Given the description of an element on the screen output the (x, y) to click on. 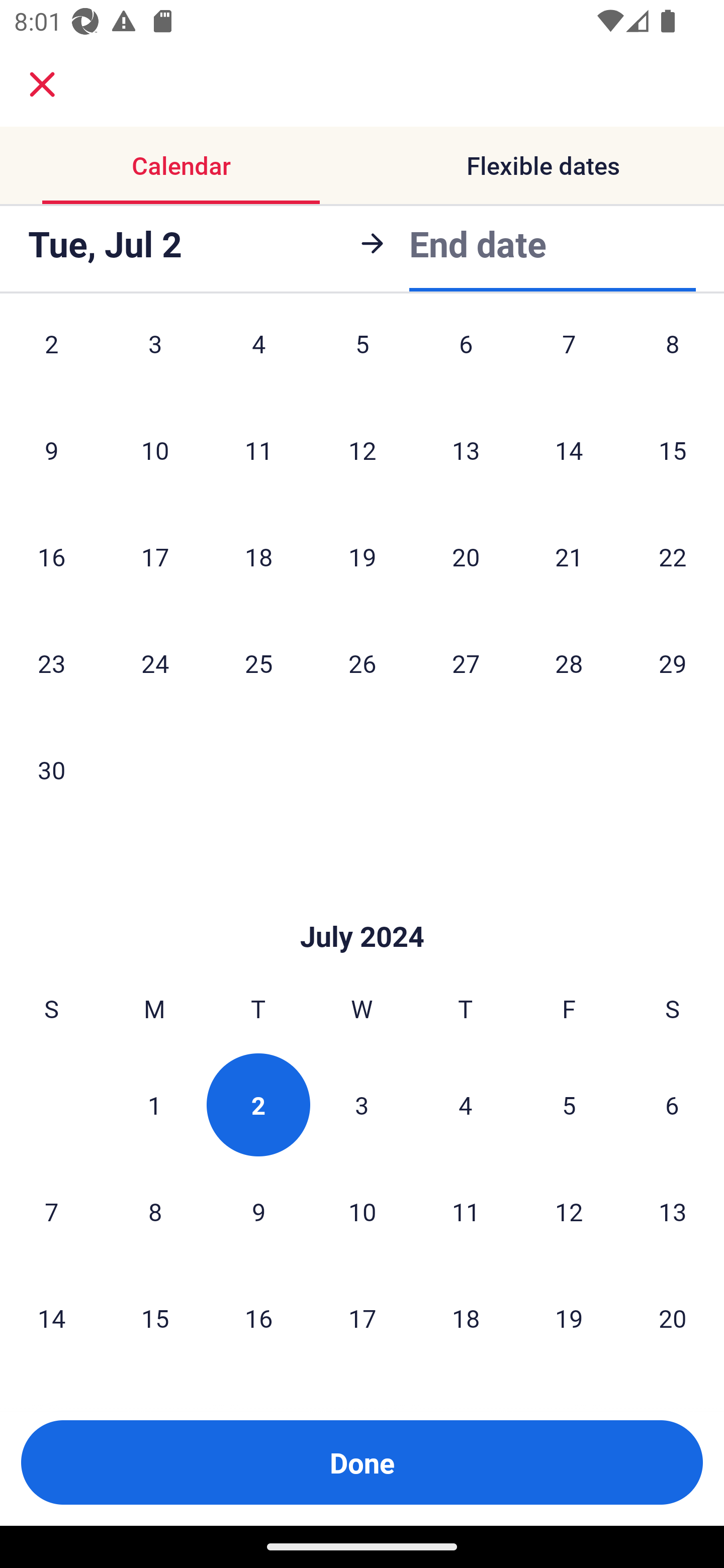
close. (42, 84)
Flexible dates (542, 164)
End date (477, 243)
2 Sunday, June 2, 2024 (51, 358)
3 Monday, June 3, 2024 (155, 358)
4 Tuesday, June 4, 2024 (258, 358)
5 Wednesday, June 5, 2024 (362, 358)
6 Thursday, June 6, 2024 (465, 358)
7 Friday, June 7, 2024 (569, 358)
8 Saturday, June 8, 2024 (672, 358)
9 Sunday, June 9, 2024 (51, 449)
10 Monday, June 10, 2024 (155, 449)
11 Tuesday, June 11, 2024 (258, 449)
12 Wednesday, June 12, 2024 (362, 449)
13 Thursday, June 13, 2024 (465, 449)
14 Friday, June 14, 2024 (569, 449)
15 Saturday, June 15, 2024 (672, 449)
16 Sunday, June 16, 2024 (51, 556)
17 Monday, June 17, 2024 (155, 556)
18 Tuesday, June 18, 2024 (258, 556)
19 Wednesday, June 19, 2024 (362, 556)
20 Thursday, June 20, 2024 (465, 556)
21 Friday, June 21, 2024 (569, 556)
22 Saturday, June 22, 2024 (672, 556)
23 Sunday, June 23, 2024 (51, 663)
24 Monday, June 24, 2024 (155, 663)
25 Tuesday, June 25, 2024 (258, 663)
26 Wednesday, June 26, 2024 (362, 663)
27 Thursday, June 27, 2024 (465, 663)
28 Friday, June 28, 2024 (569, 663)
29 Saturday, June 29, 2024 (672, 663)
30 Sunday, June 30, 2024 (51, 769)
Skip to Done (362, 905)
1 Monday, July 1, 2024 (154, 1105)
3 Wednesday, July 3, 2024 (361, 1105)
4 Thursday, July 4, 2024 (465, 1105)
5 Friday, July 5, 2024 (568, 1105)
6 Saturday, July 6, 2024 (672, 1105)
7 Sunday, July 7, 2024 (51, 1211)
8 Monday, July 8, 2024 (155, 1211)
9 Tuesday, July 9, 2024 (258, 1211)
10 Wednesday, July 10, 2024 (362, 1211)
11 Thursday, July 11, 2024 (465, 1211)
12 Friday, July 12, 2024 (569, 1211)
13 Saturday, July 13, 2024 (672, 1211)
14 Sunday, July 14, 2024 (51, 1317)
15 Monday, July 15, 2024 (155, 1317)
16 Tuesday, July 16, 2024 (258, 1317)
17 Wednesday, July 17, 2024 (362, 1317)
18 Thursday, July 18, 2024 (465, 1317)
19 Friday, July 19, 2024 (569, 1317)
20 Saturday, July 20, 2024 (672, 1317)
Done (361, 1462)
